Given the description of an element on the screen output the (x, y) to click on. 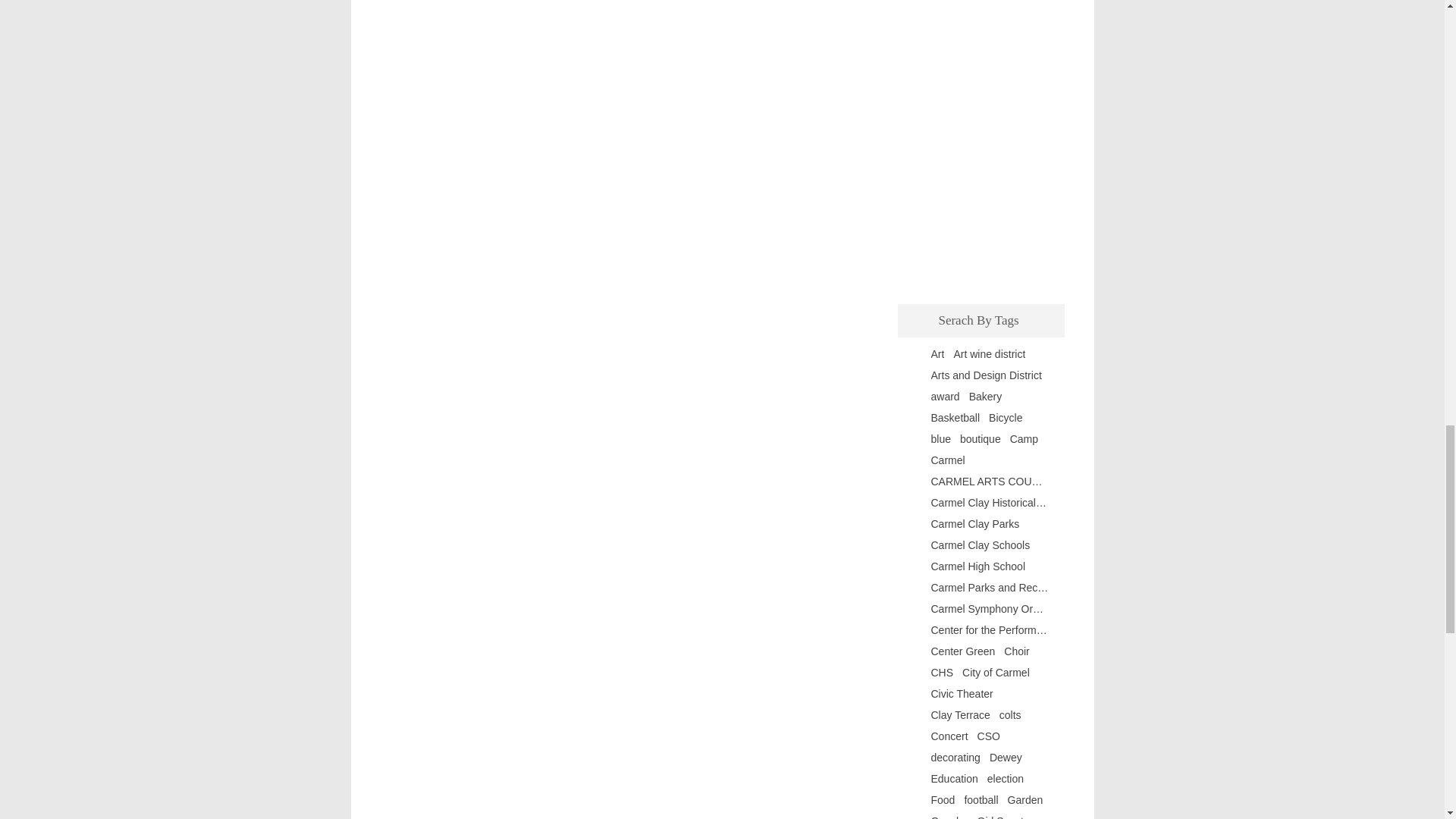
boutique (980, 439)
blue (940, 439)
Basketball (955, 417)
Bakery (986, 396)
Carmel (948, 460)
Arts and Design District (986, 375)
Art wine district (989, 354)
CARMEL ARTS COUNCIL (989, 481)
Carmel Clay Schools (980, 544)
award (945, 396)
